Given the description of an element on the screen output the (x, y) to click on. 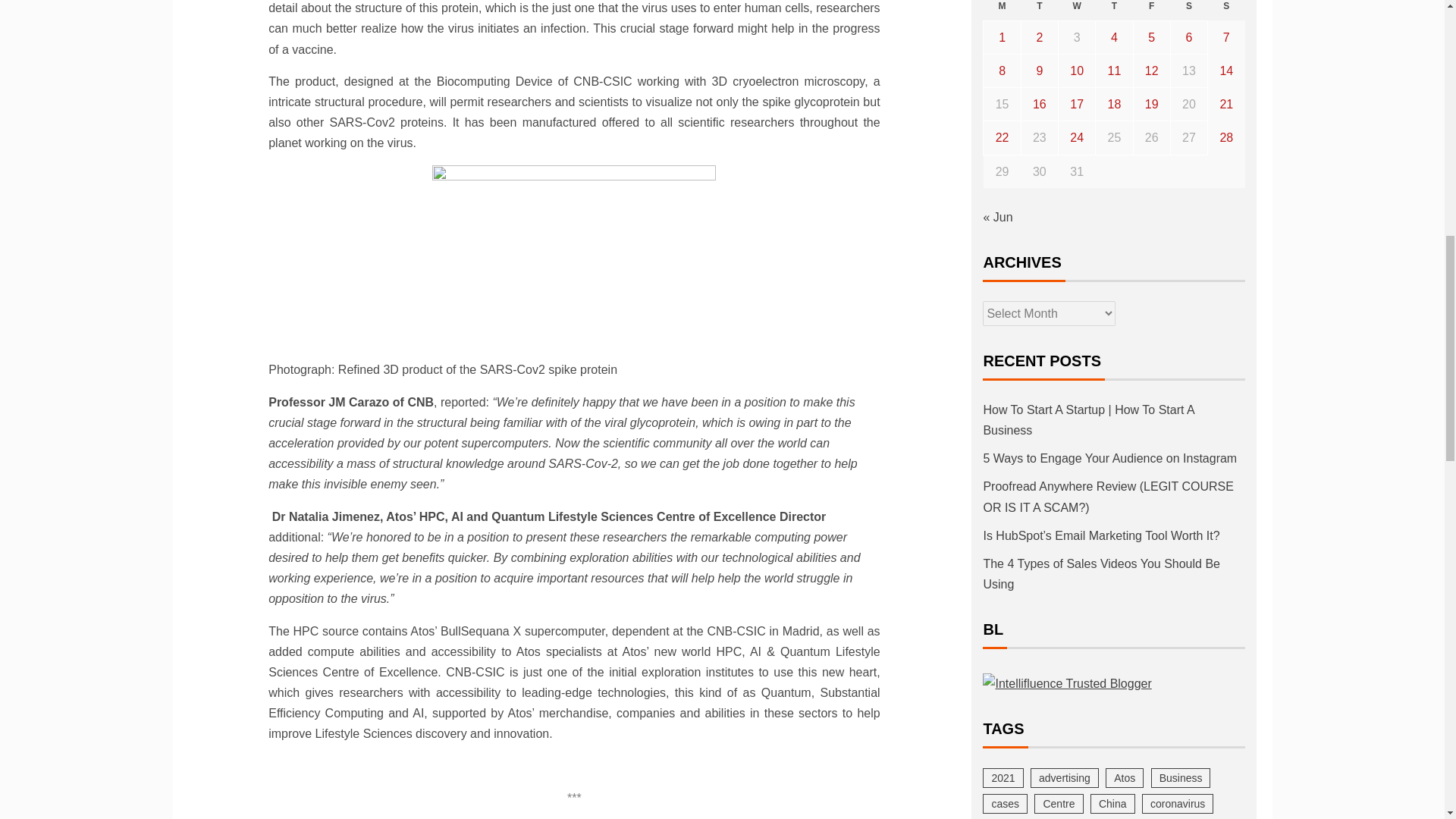
Friday (1151, 10)
Monday (1002, 10)
Tuesday (1039, 10)
Sunday (1226, 10)
Saturday (1188, 10)
Thursday (1114, 10)
Wednesday (1077, 10)
